Given the description of an element on the screen output the (x, y) to click on. 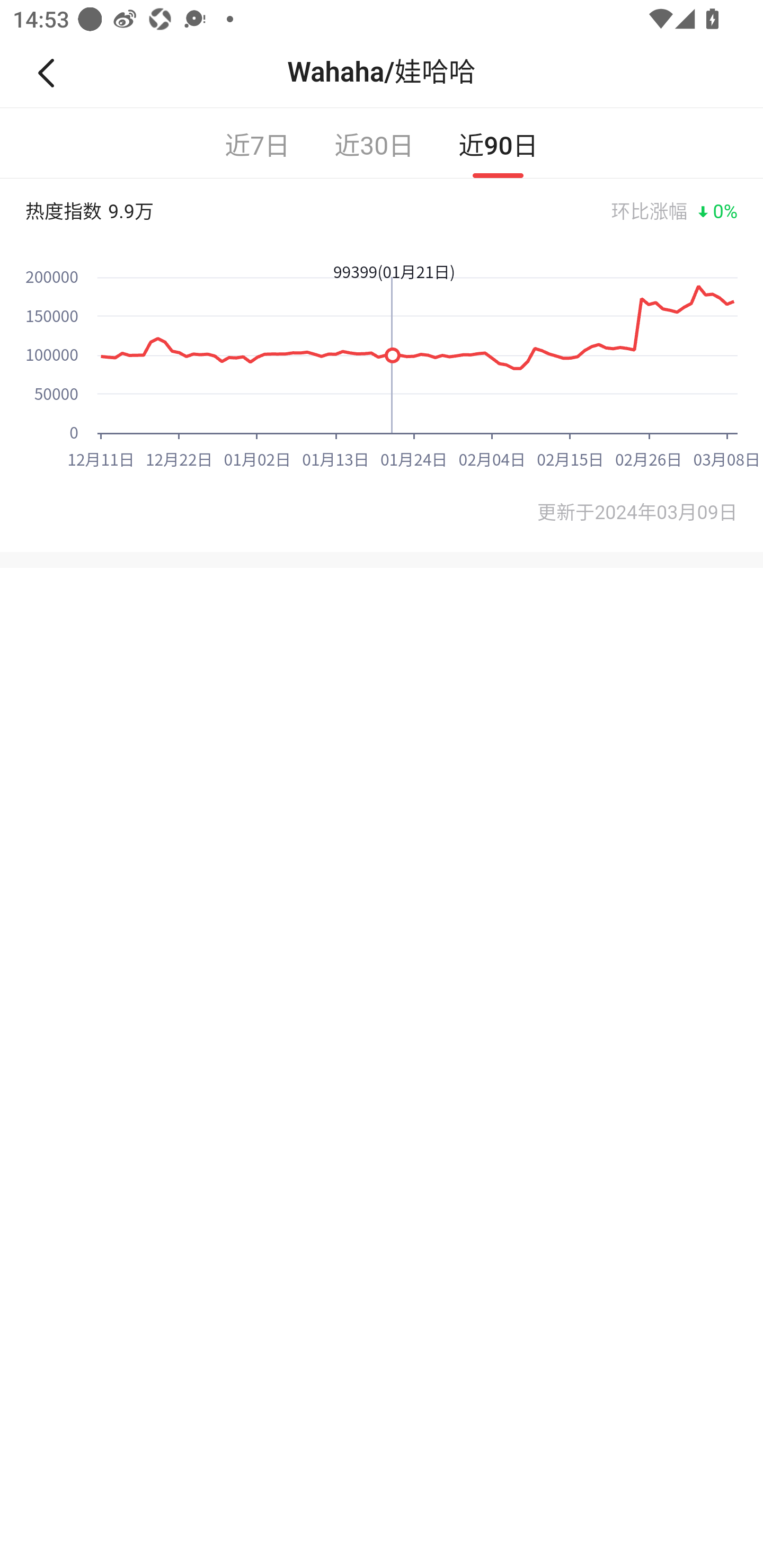
返回 (53, 72)
近7日 (257, 143)
近30日 (374, 143)
近90日 (497, 143)
